Given the description of an element on the screen output the (x, y) to click on. 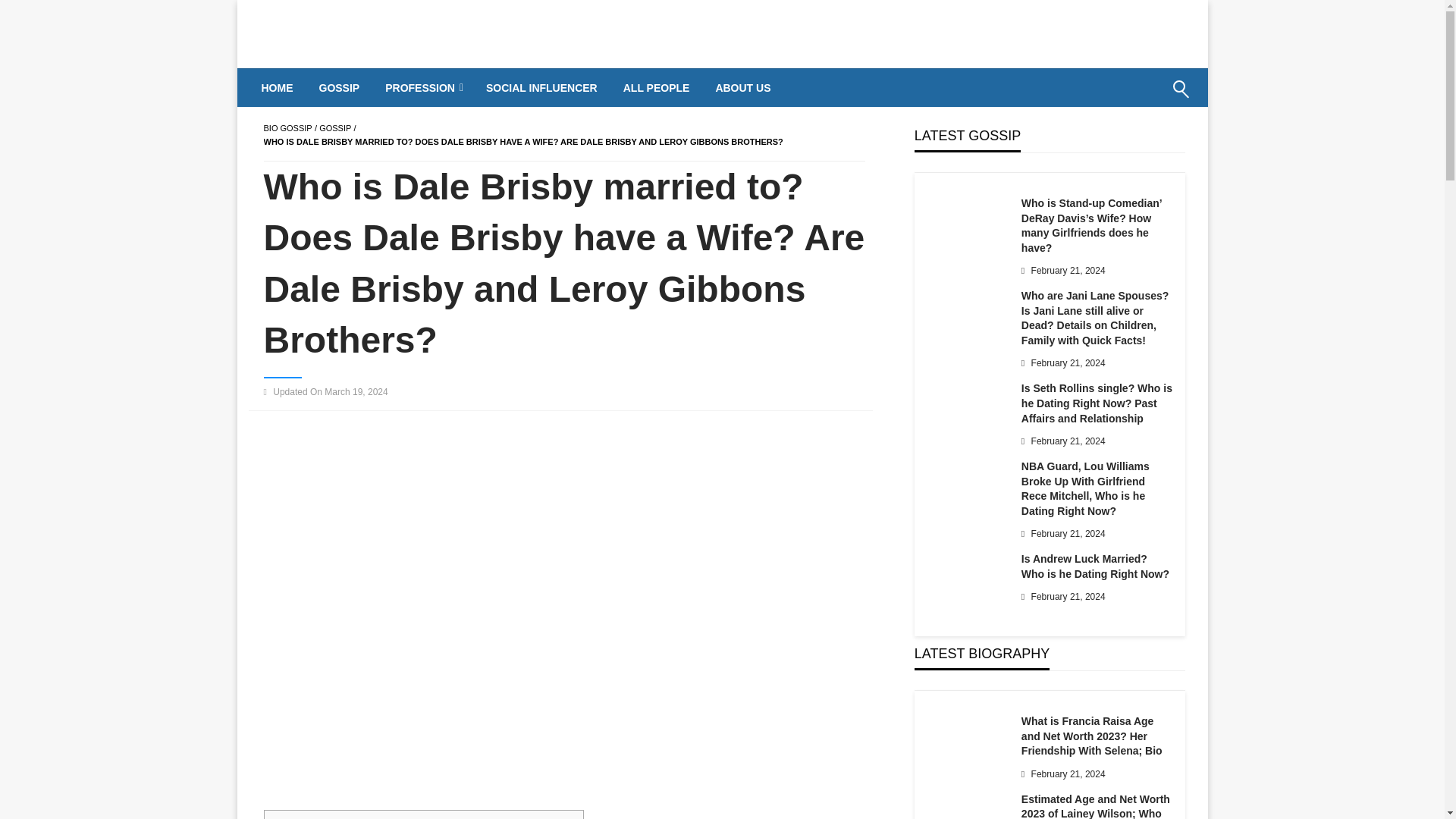
Biogossip (680, 87)
ABOUT US (742, 87)
PROFESSION (422, 87)
SOCIAL INFLUENCER (541, 87)
Is Andrew Luck Married? Who is he Dating Right Now? (1097, 566)
